Given the description of an element on the screen output the (x, y) to click on. 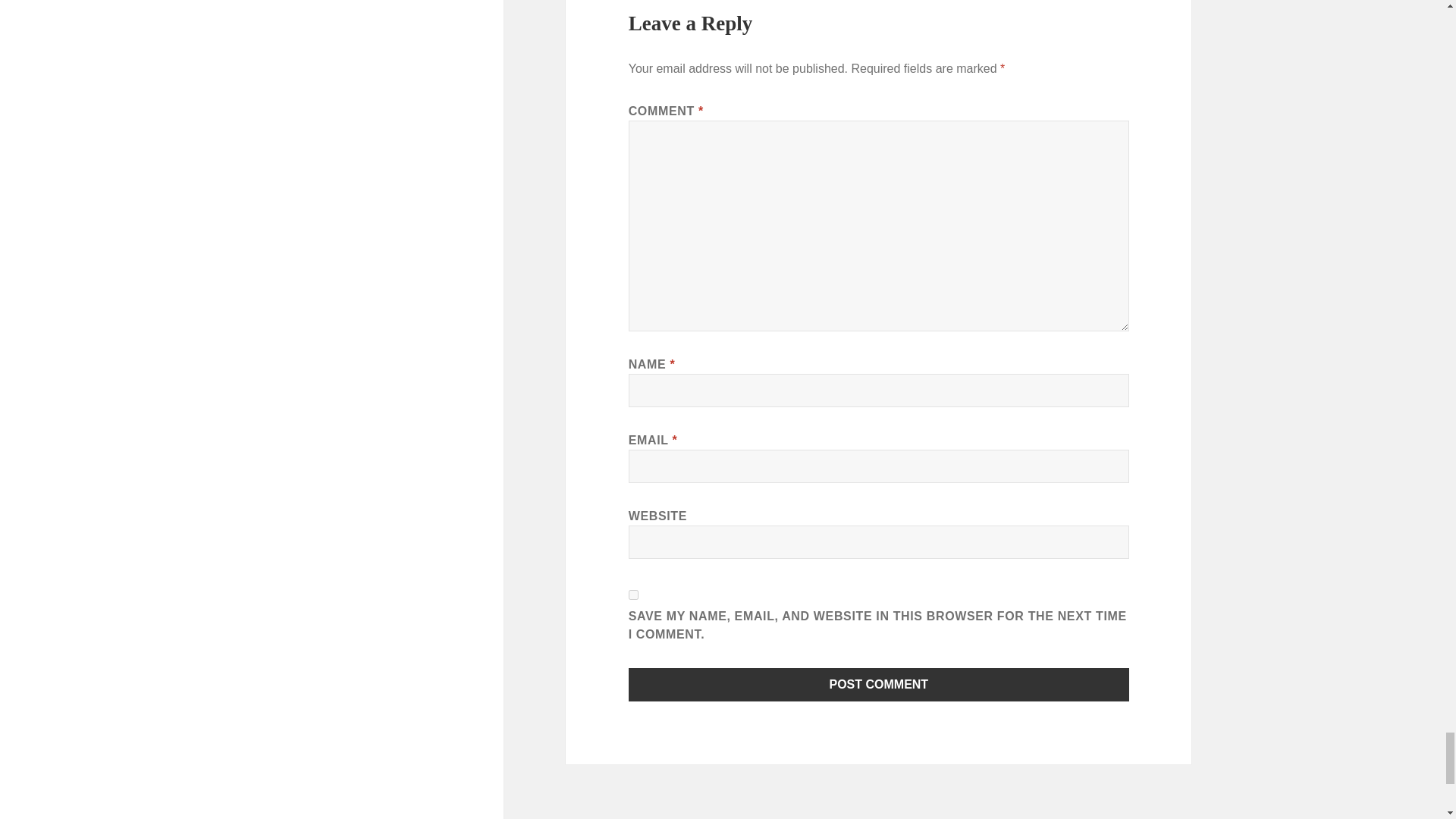
Post Comment (878, 684)
Post Comment (878, 684)
yes (633, 594)
